Given the description of an element on the screen output the (x, y) to click on. 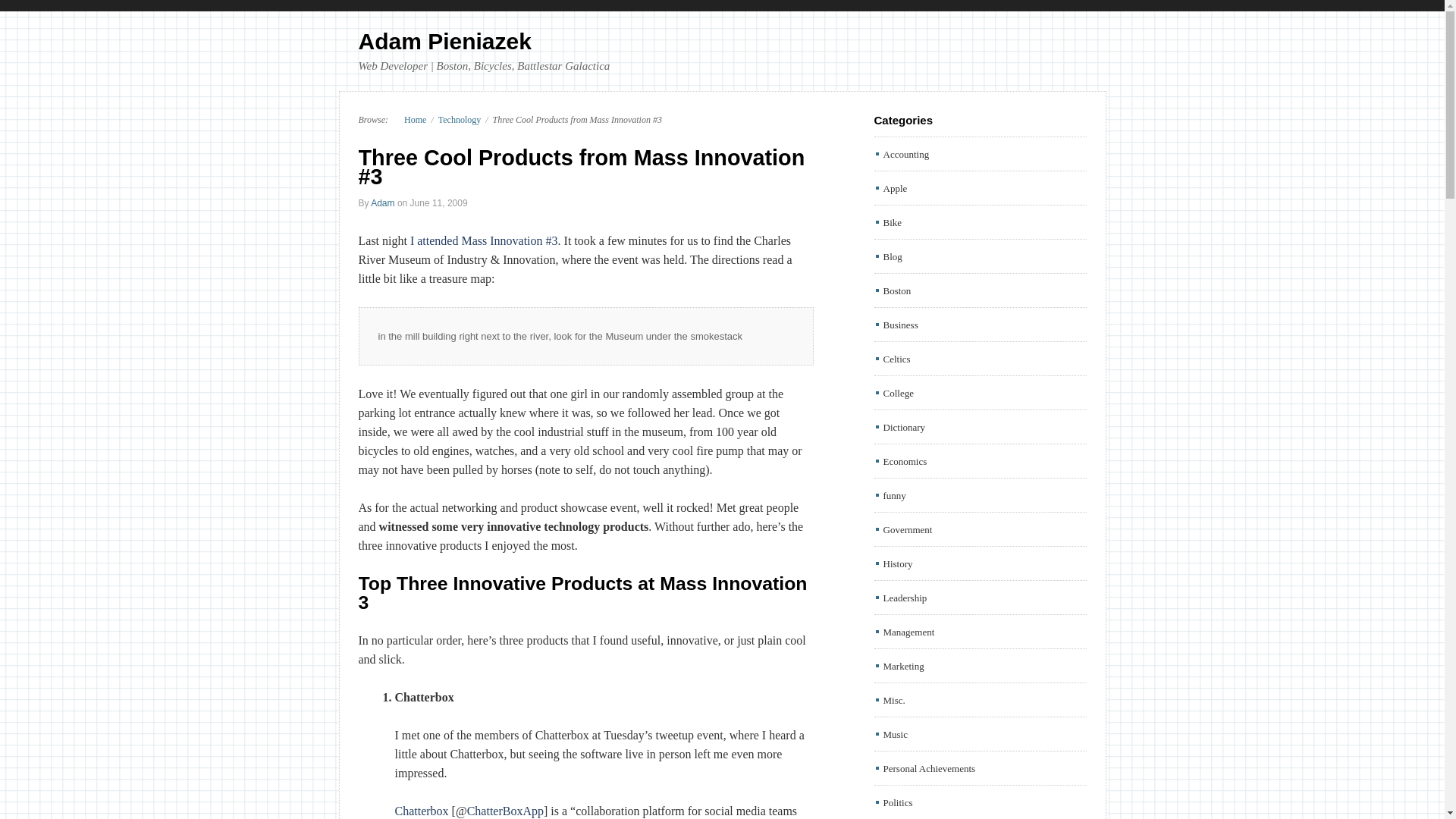
Adam Pieniazek (444, 41)
Adam (382, 203)
Chatterbox (421, 810)
ChatterBoxApp (505, 810)
Technology (459, 119)
Adam Pieniazek (408, 119)
Adam Pieniazek (444, 41)
Thursday, June 11th, 2009, 4:59 pm (438, 203)
Adam (382, 203)
Technology (459, 119)
